Given the description of an element on the screen output the (x, y) to click on. 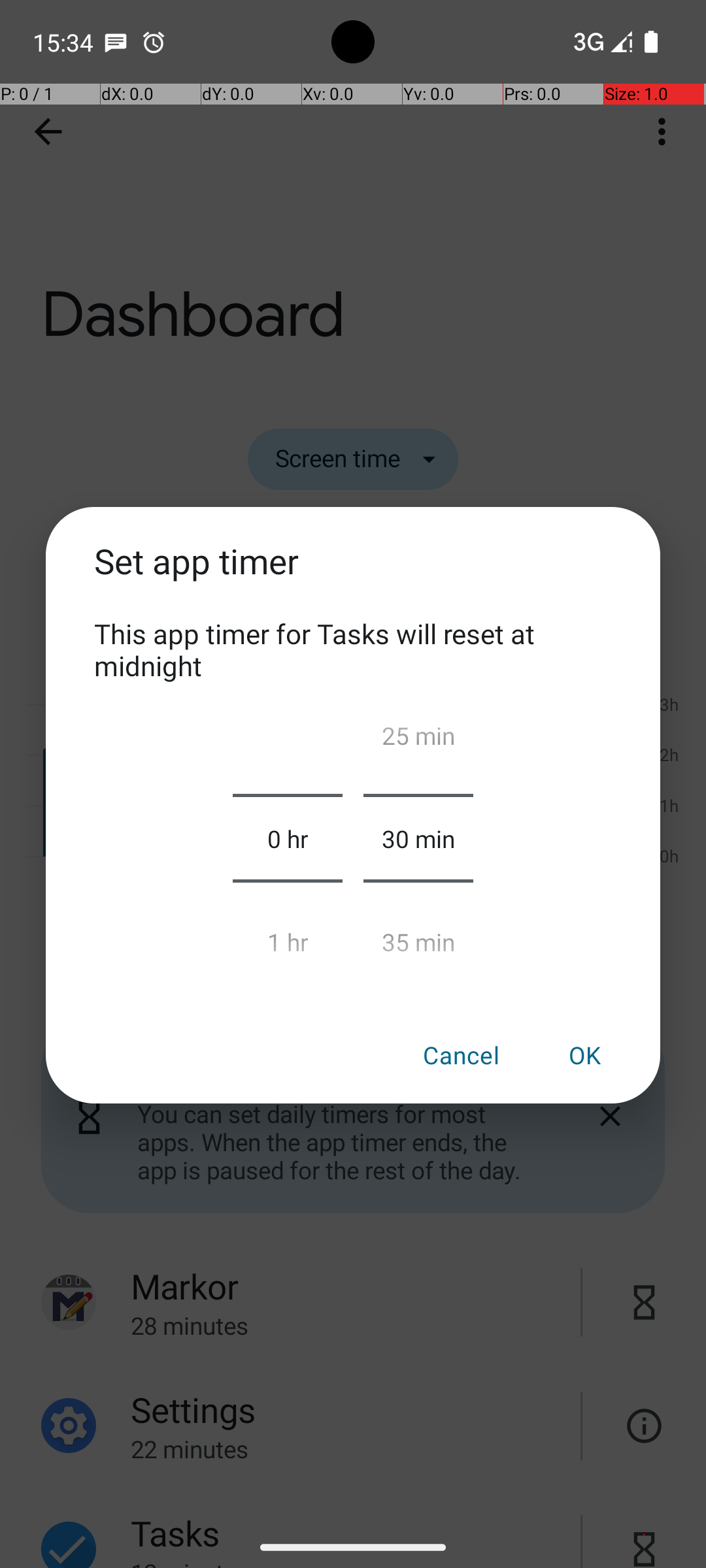
Set app timer Element type: android.widget.TextView (352, 575)
This app timer for Tasks will reset at midnight Element type: android.widget.TextView (352, 649)
0 hr Element type: android.widget.EditText (287, 838)
1 hr Element type: android.widget.Button (287, 936)
25 min Element type: android.widget.Button (418, 740)
30 min Element type: android.widget.EditText (418, 838)
35 min Element type: android.widget.Button (418, 936)
